Given the description of an element on the screen output the (x, y) to click on. 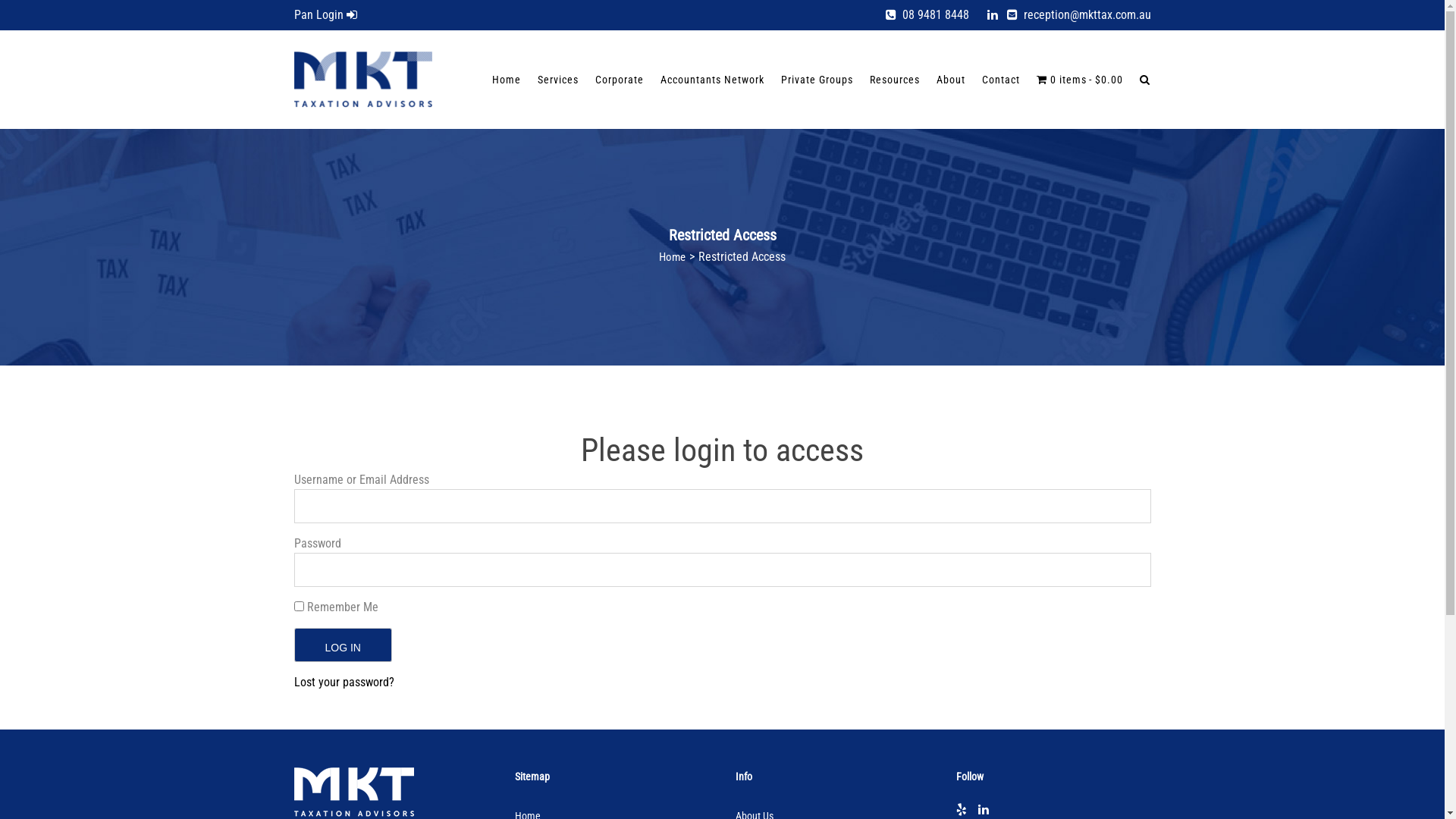
Private Groups Element type: text (816, 79)
Lost your password? Element type: text (344, 681)
Log In Element type: text (343, 644)
Contact Element type: text (1000, 79)
Corporate Element type: text (619, 79)
reception@mkttax.com.au Element type: text (1079, 14)
Search Element type: hover (1140, 79)
About Element type: text (950, 79)
Resources Element type: text (894, 79)
Services Element type: text (558, 79)
Accountants Network Element type: text (711, 79)
Home Element type: text (671, 256)
Home Element type: text (506, 79)
Pan Login Element type: text (325, 14)
08 9481 8448 Element type: text (927, 14)
0 items$0.00 Element type: text (1079, 79)
